Given the description of an element on the screen output the (x, y) to click on. 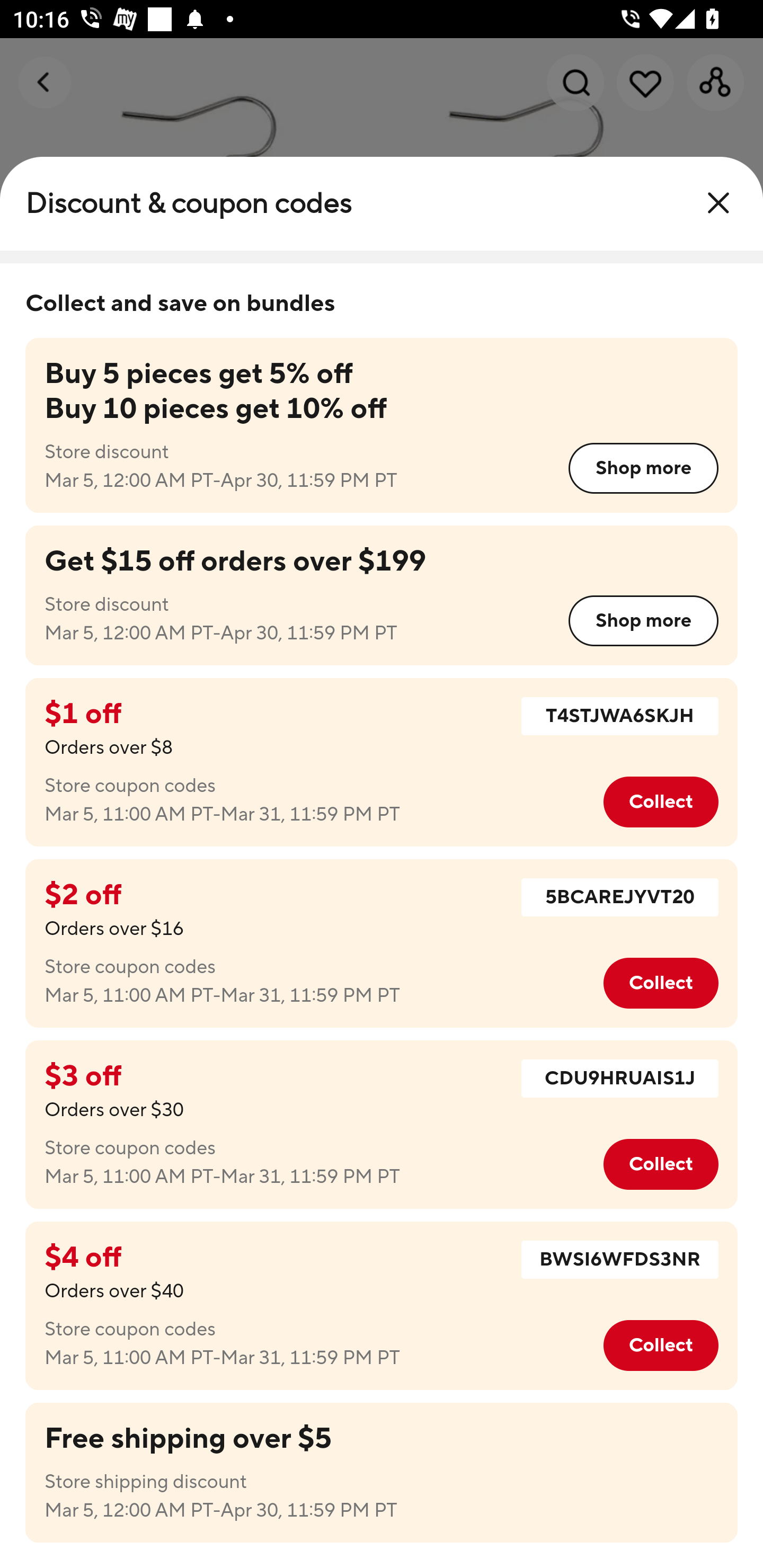
 (718, 202)
Shop more (642, 467)
Shop more (642, 620)
Collect (660, 801)
Collect (660, 983)
Collect (660, 1164)
Collect (660, 1345)
